Given the description of an element on the screen output the (x, y) to click on. 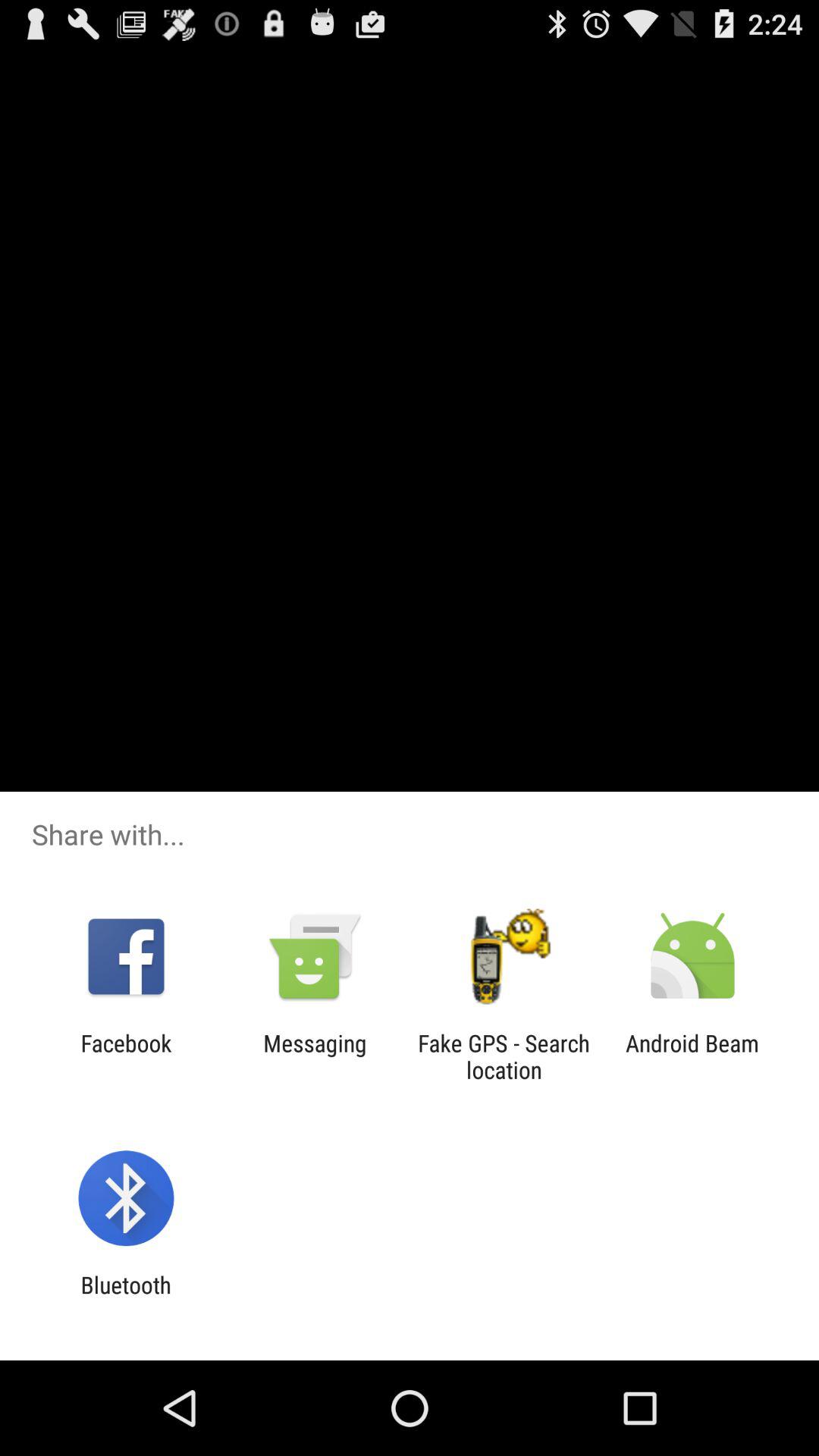
select item to the right of fake gps search icon (692, 1056)
